Given the description of an element on the screen output the (x, y) to click on. 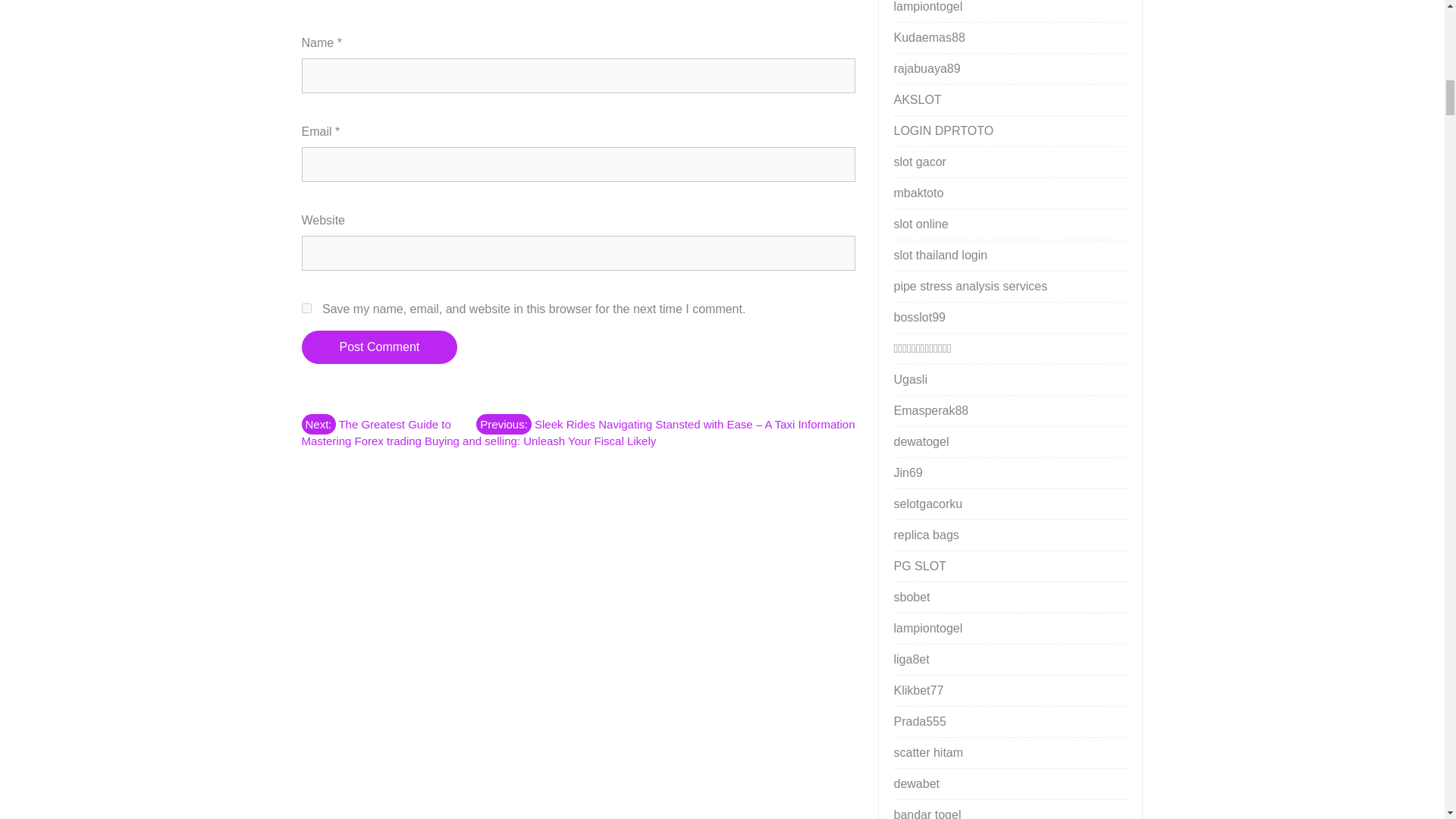
yes (306, 307)
Post Comment (379, 346)
Post Comment (379, 346)
